Given the description of an element on the screen output the (x, y) to click on. 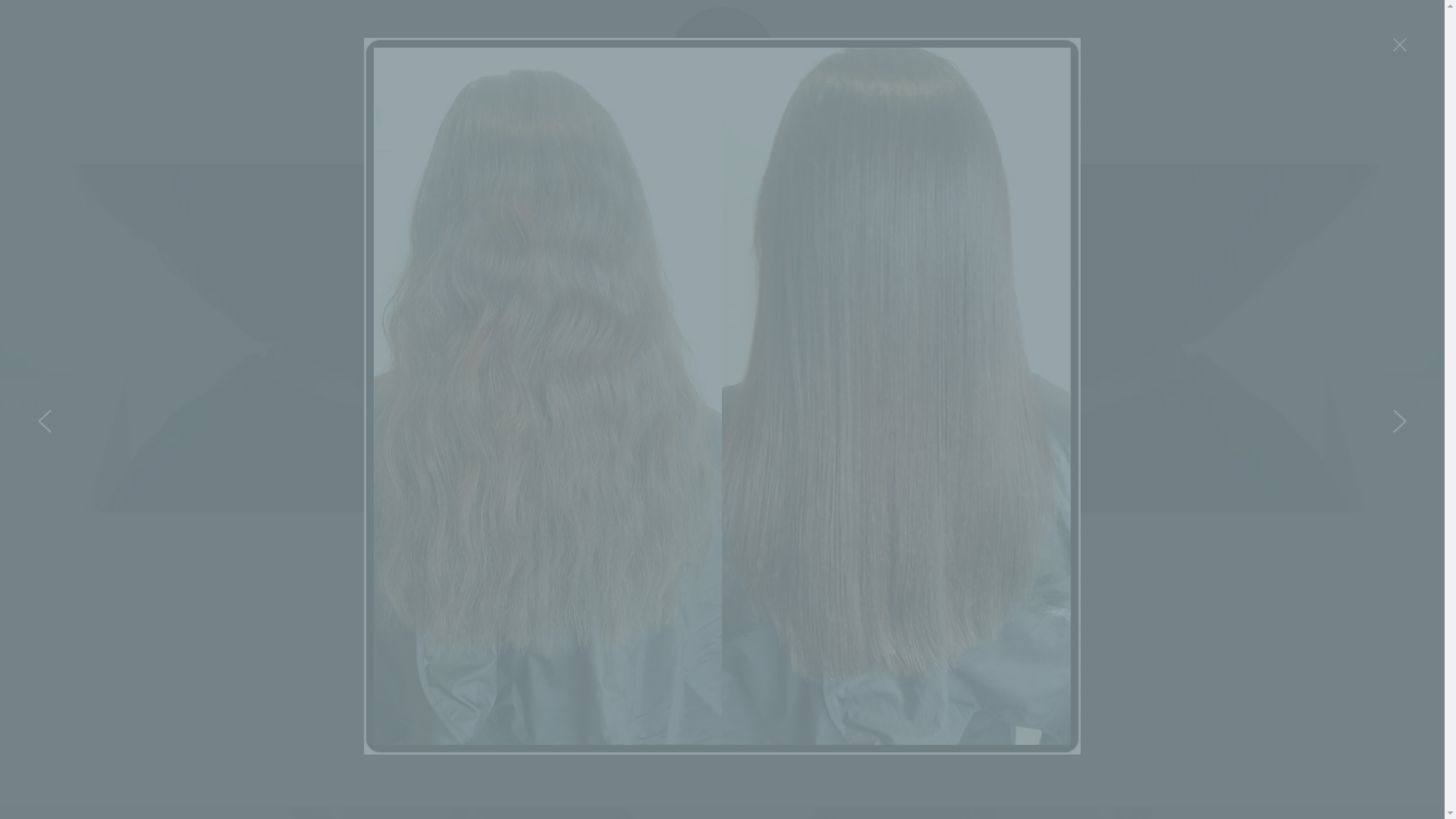
ABOUT Element type: text (618, 138)
CONTACT Element type: text (909, 138)
BOOK NOW Element type: text (831, 138)
HOME Element type: text (562, 138)
SERVICES Element type: text (684, 138)
SPECIALS Element type: text (755, 138)
